Given the description of an element on the screen output the (x, y) to click on. 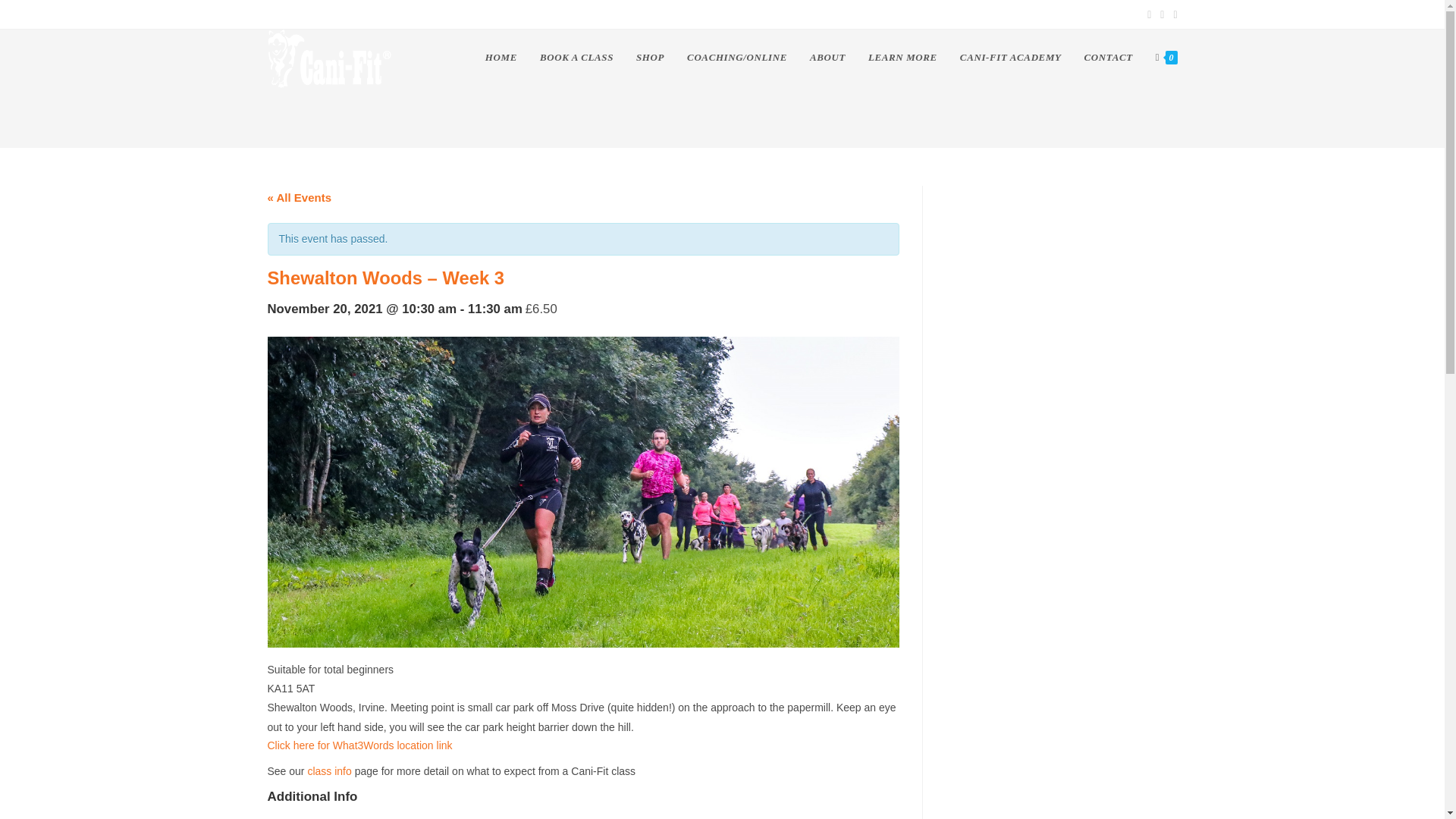
CANI-FIT ACADEMY (1011, 57)
LEARN MORE (903, 57)
CONTACT (1108, 57)
SHOP (649, 57)
ABOUT (827, 57)
BOOK A CLASS (576, 57)
HOME (501, 57)
0 (1166, 57)
